Given the description of an element on the screen output the (x, y) to click on. 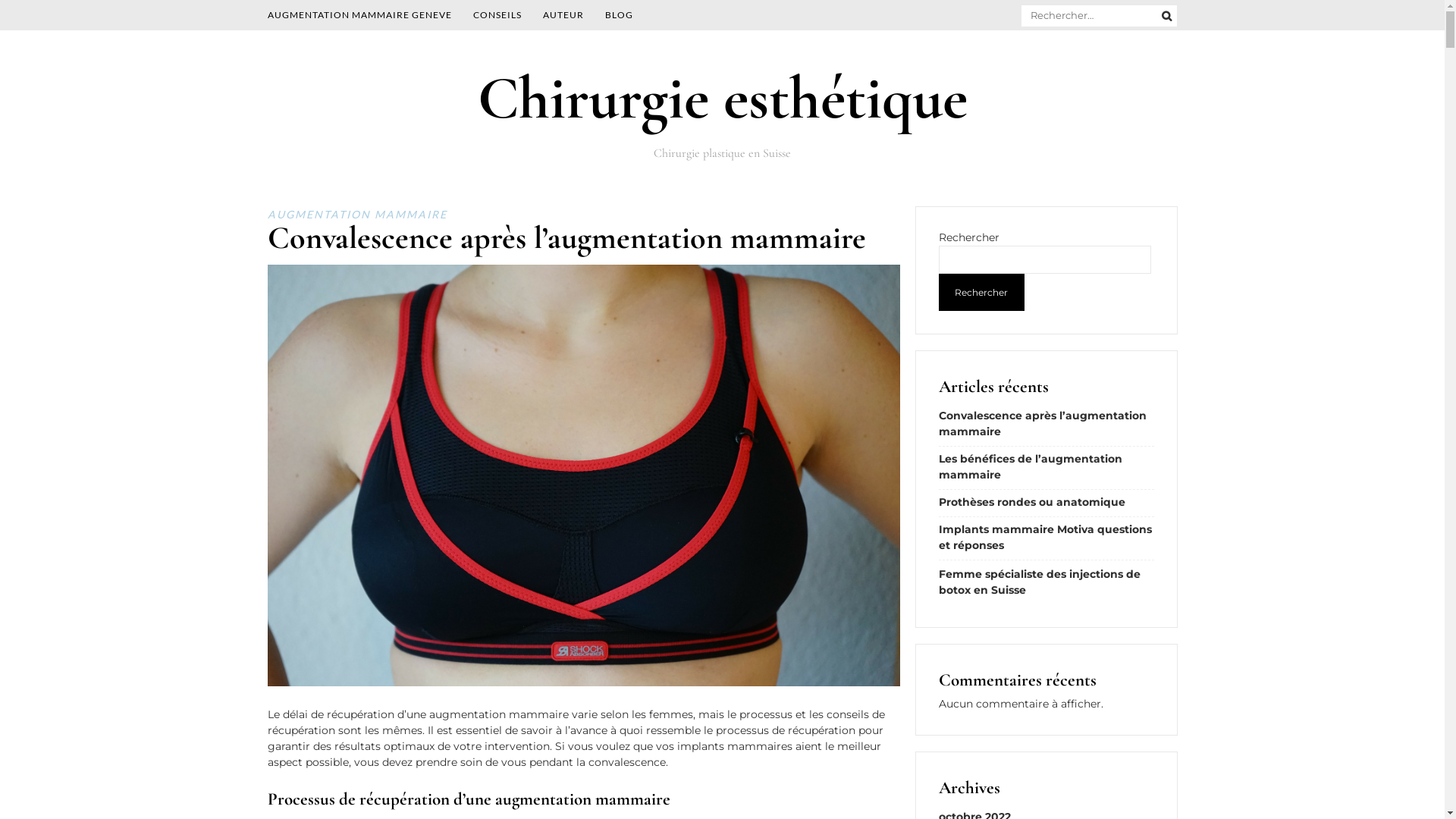
Rechercher Element type: text (42, 18)
Rechercher Element type: text (981, 291)
AUGMENTATION MAMMAIRE Element type: text (356, 213)
AUGMENTATION MAMMAIRE GENEVE Element type: text (358, 15)
Skip to content Element type: text (0, 53)
AUTEUR Element type: text (562, 15)
CONSEILS Element type: text (497, 15)
BLOG Element type: text (619, 15)
